Given the description of an element on the screen output the (x, y) to click on. 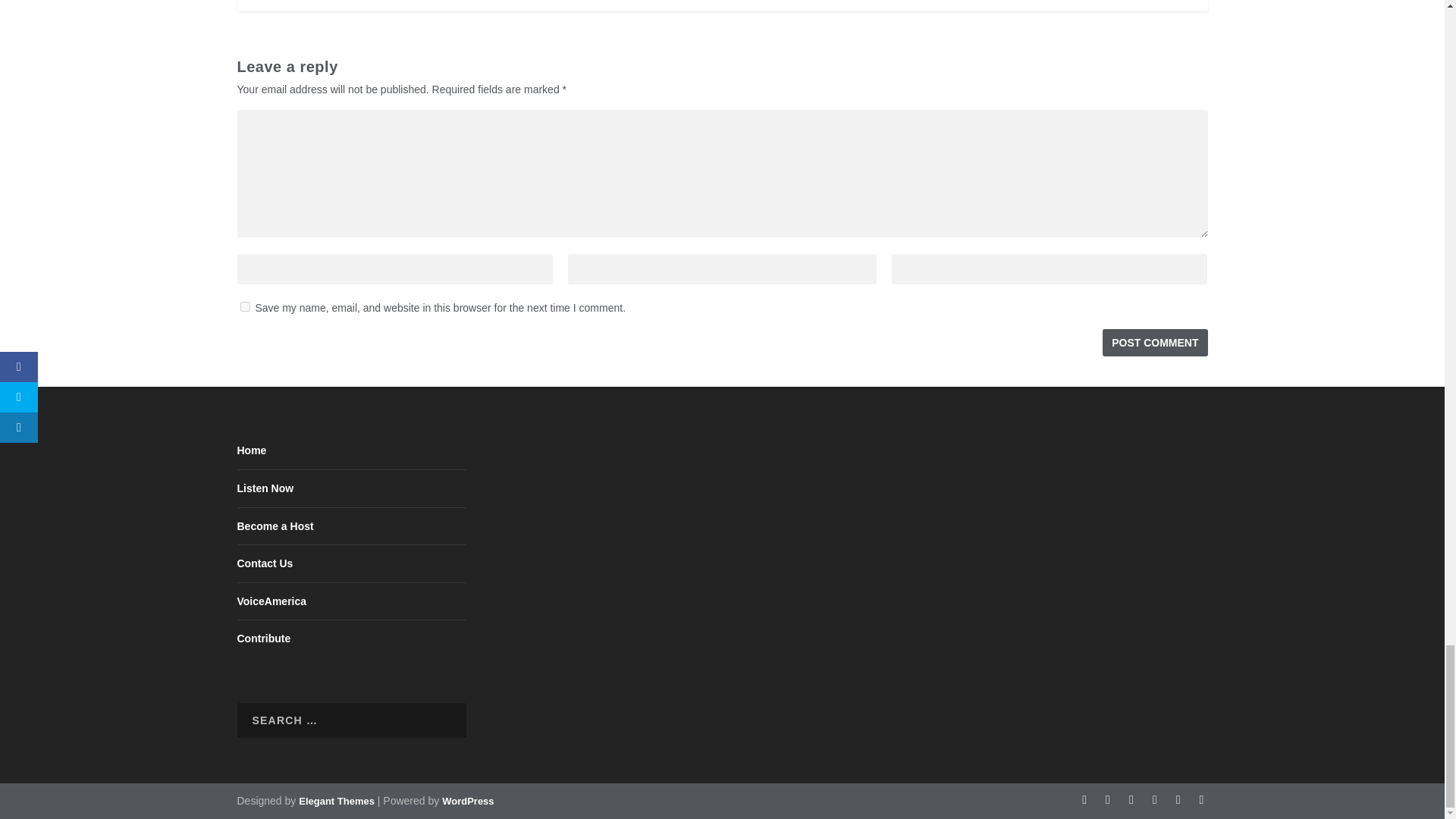
Post Comment (1154, 342)
yes (244, 307)
